Given the description of an element on the screen output the (x, y) to click on. 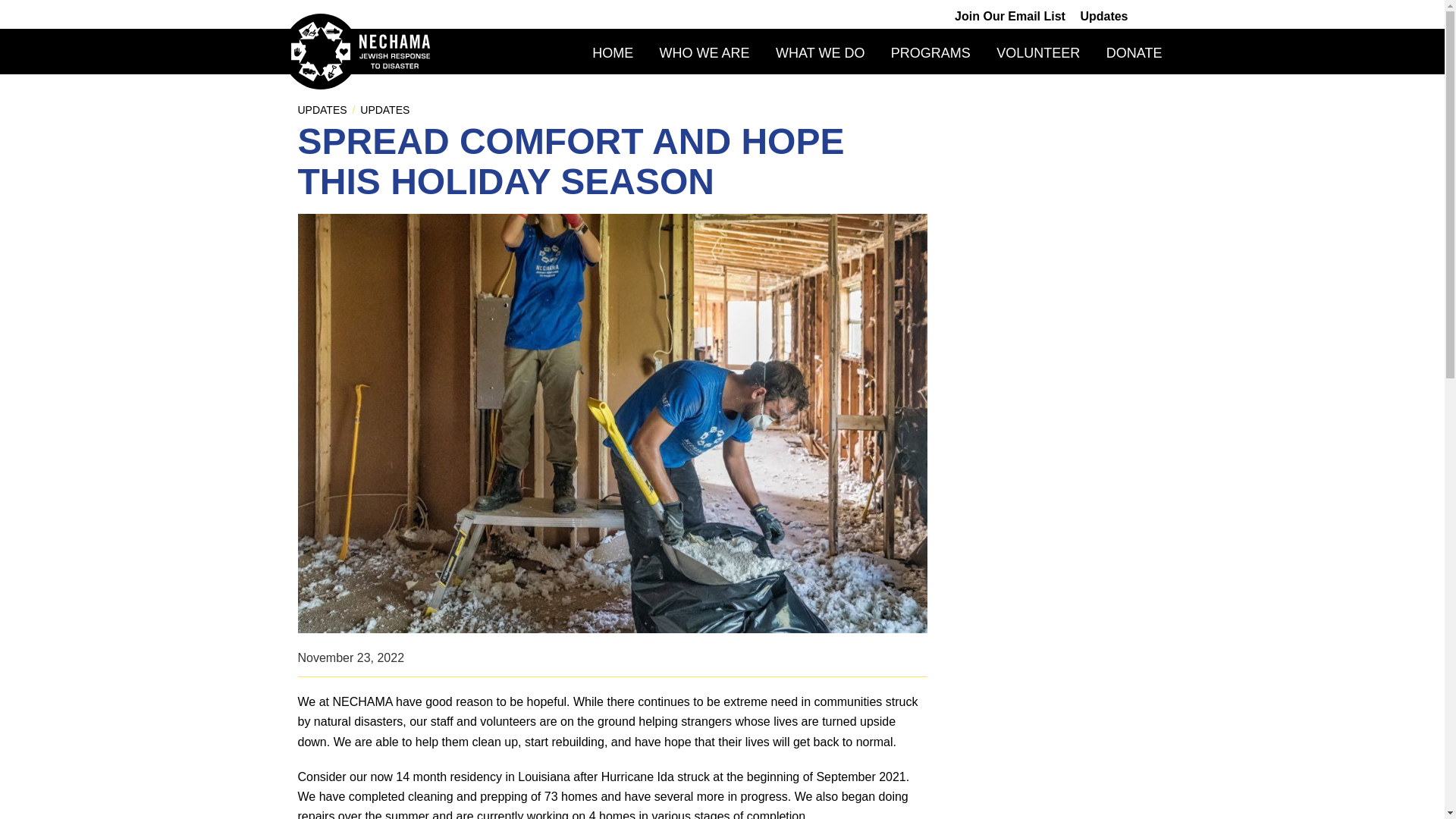
HOME (612, 52)
Join Our Email List (1010, 15)
UPDATES (384, 110)
DONATE (1133, 52)
WHO WE ARE (704, 52)
PROGRAMS (931, 52)
UPDATES (321, 110)
WHAT WE DO (820, 52)
Updates (1103, 15)
VOLUNTEER (1037, 52)
